Given the description of an element on the screen output the (x, y) to click on. 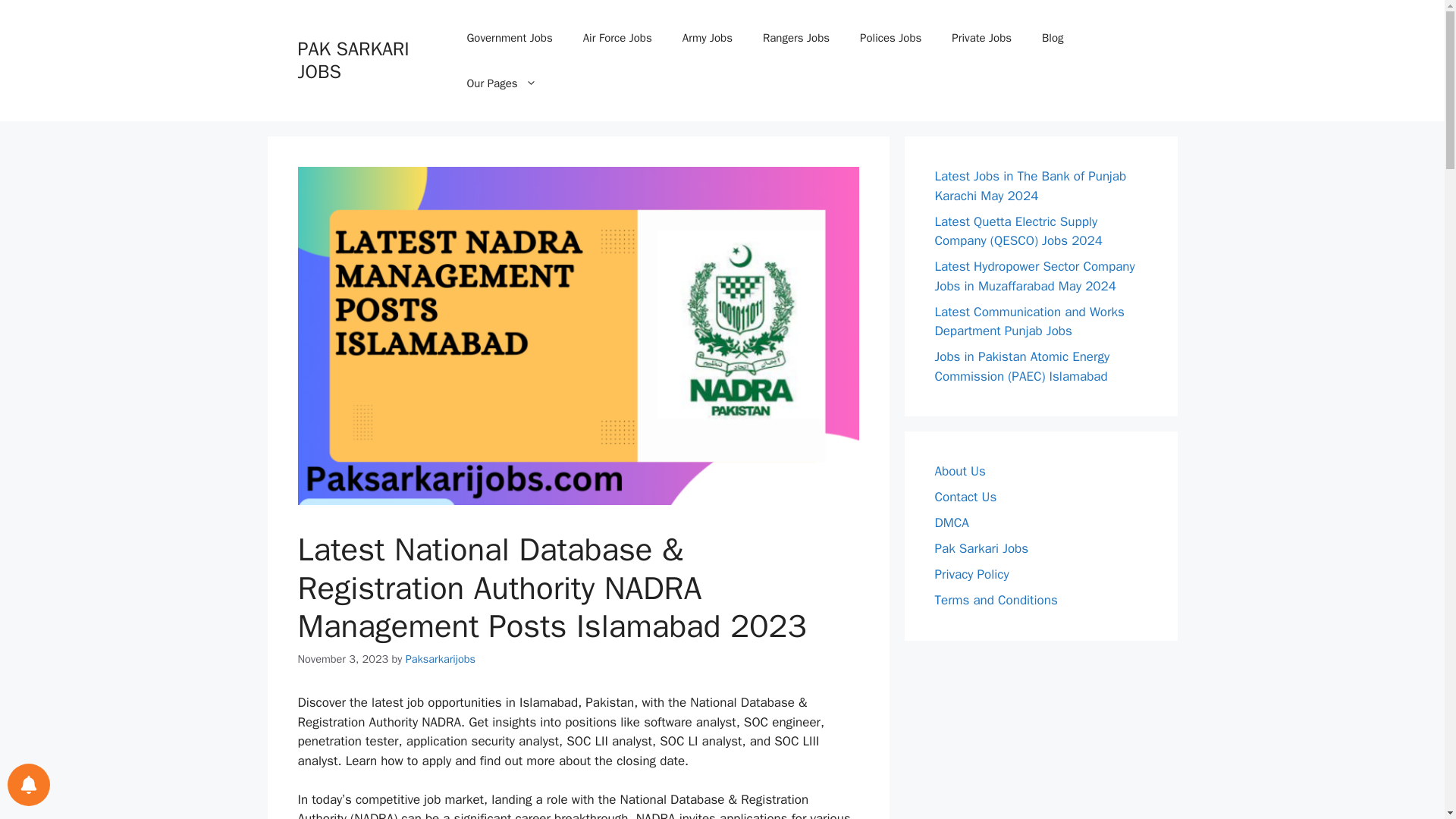
Terms and Conditions (995, 600)
Paksarkarijobs (441, 658)
Rangers Jobs (796, 37)
Latest Communication and Works Department Punjab Jobs (1029, 321)
View all posts by Paksarkarijobs (441, 658)
Air Force Jobs (616, 37)
Latest Jobs in The Bank of Punjab Karachi May 2024 (1029, 185)
Contact Us (964, 496)
Our Pages (501, 83)
Blog (1052, 37)
Private Jobs (981, 37)
Privacy Policy (971, 574)
PAK SARKARI JOBS (353, 59)
About Us (959, 471)
